Given the description of an element on the screen output the (x, y) to click on. 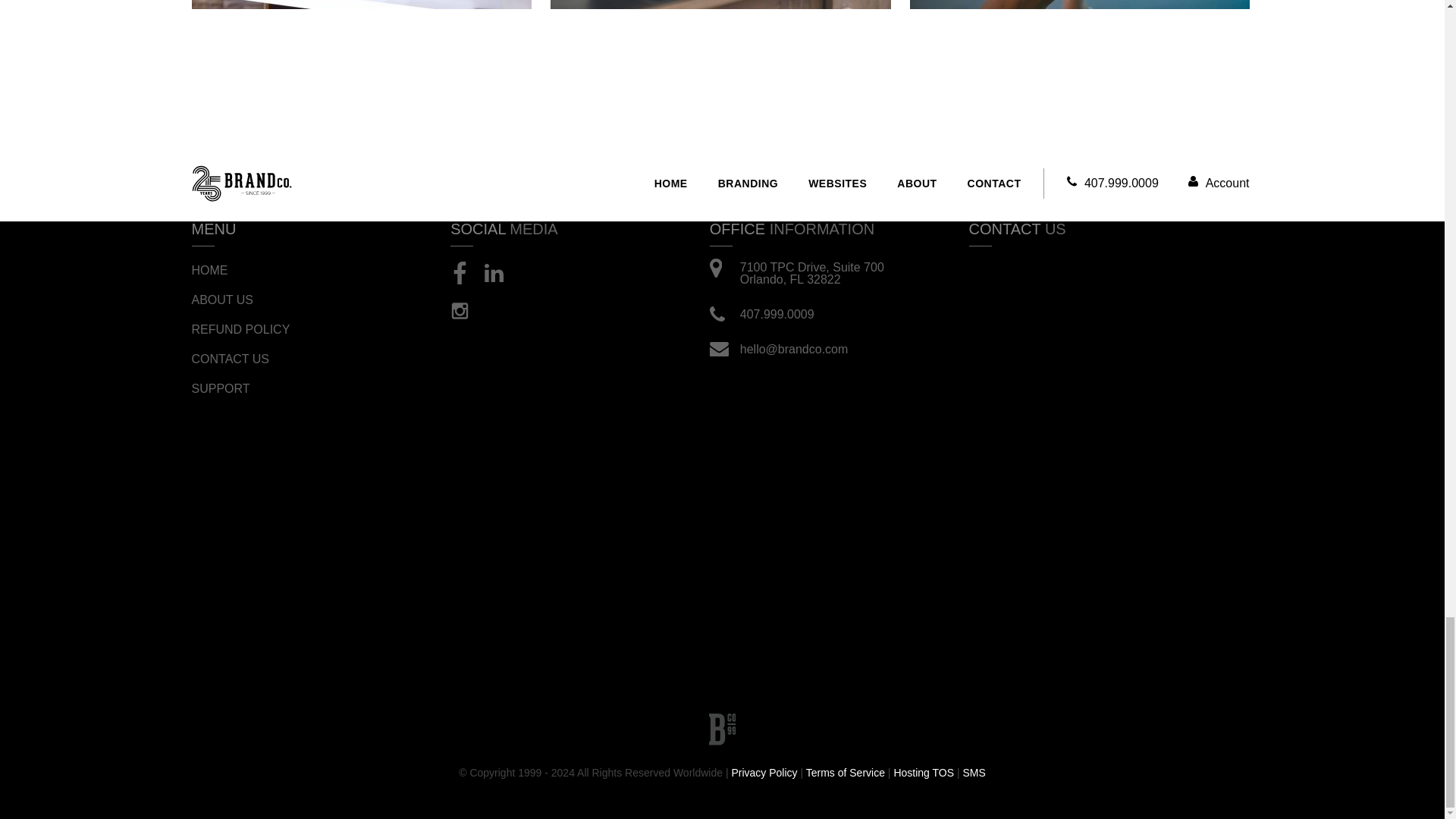
CONTACT US (239, 359)
HOME (239, 270)
ABOUT US (239, 300)
REFUND POLICY (239, 330)
SUPPORT (239, 389)
